Given the description of an element on the screen output the (x, y) to click on. 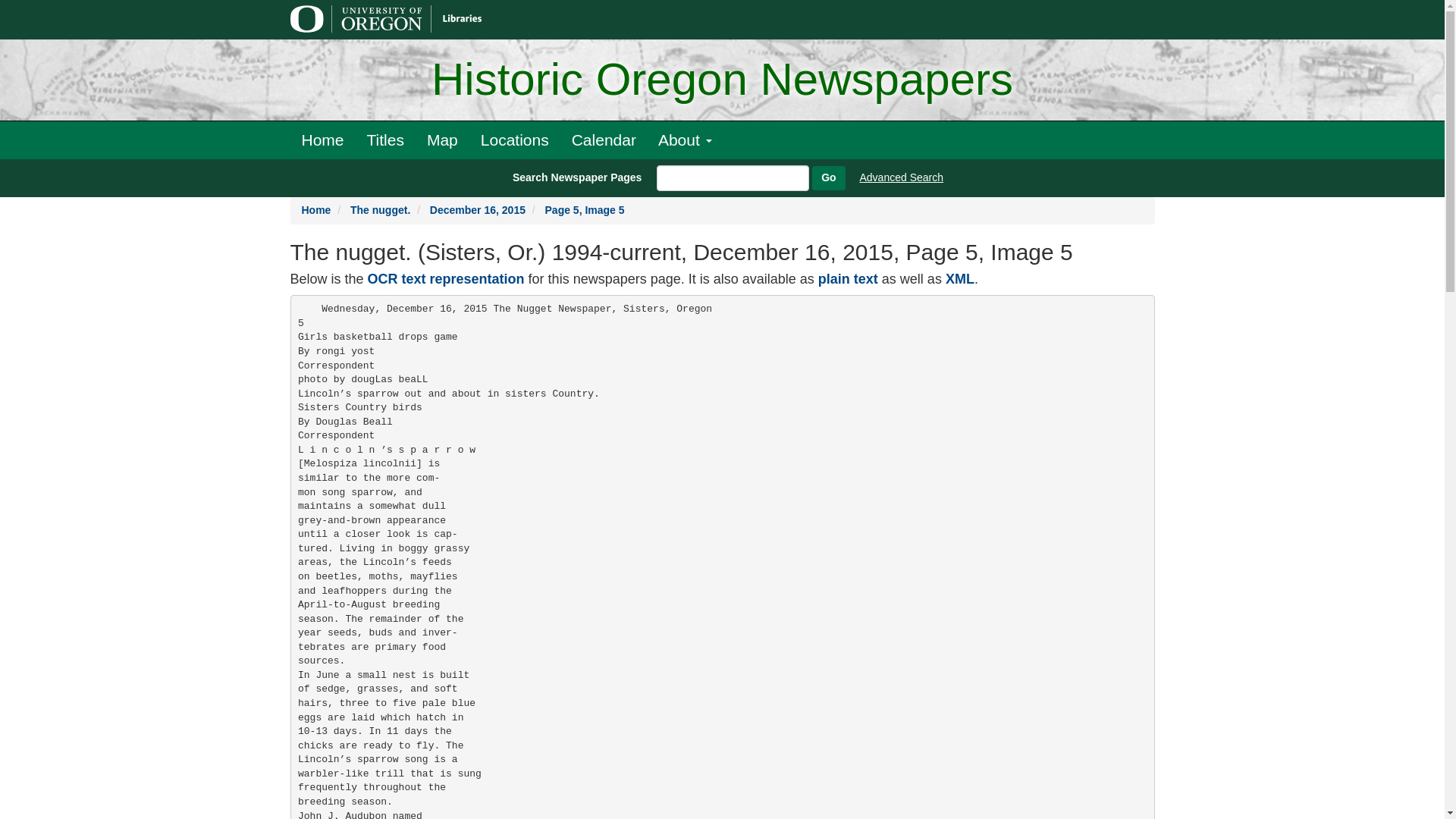
Home (322, 139)
About (684, 140)
Page 5, Image 5 (584, 209)
Home (316, 209)
OCR text representation (446, 278)
plain text (847, 278)
Titles (384, 139)
December 16, 2015 (477, 209)
Go (828, 178)
The nugget. (380, 209)
Locations (514, 139)
Calendar (603, 139)
Map (441, 139)
Advanced Search (901, 177)
XML (959, 278)
